Given the description of an element on the screen output the (x, y) to click on. 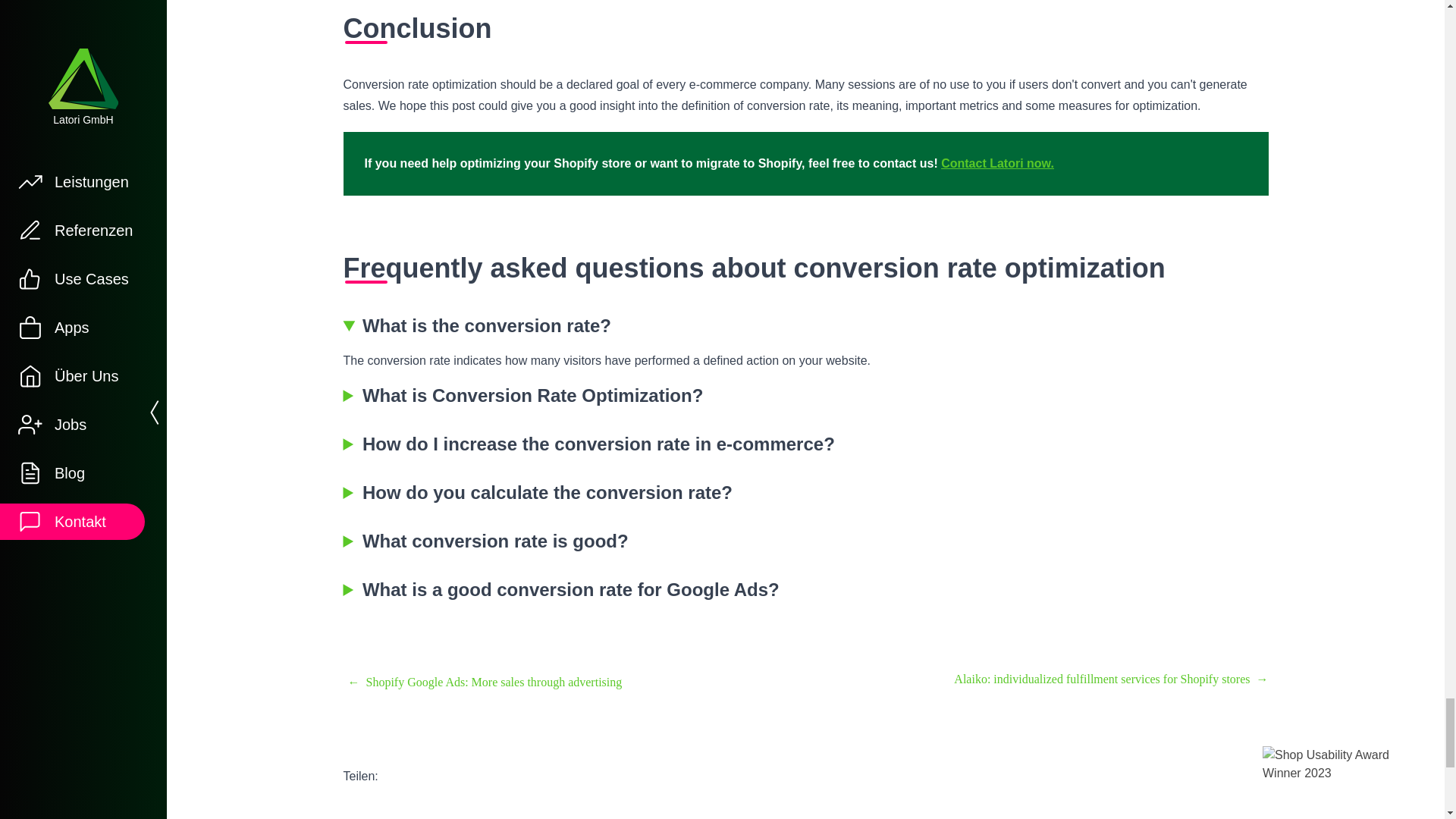
Conclusion (805, 28)
Contact Latori now. (997, 163)
